Given the description of an element on the screen output the (x, y) to click on. 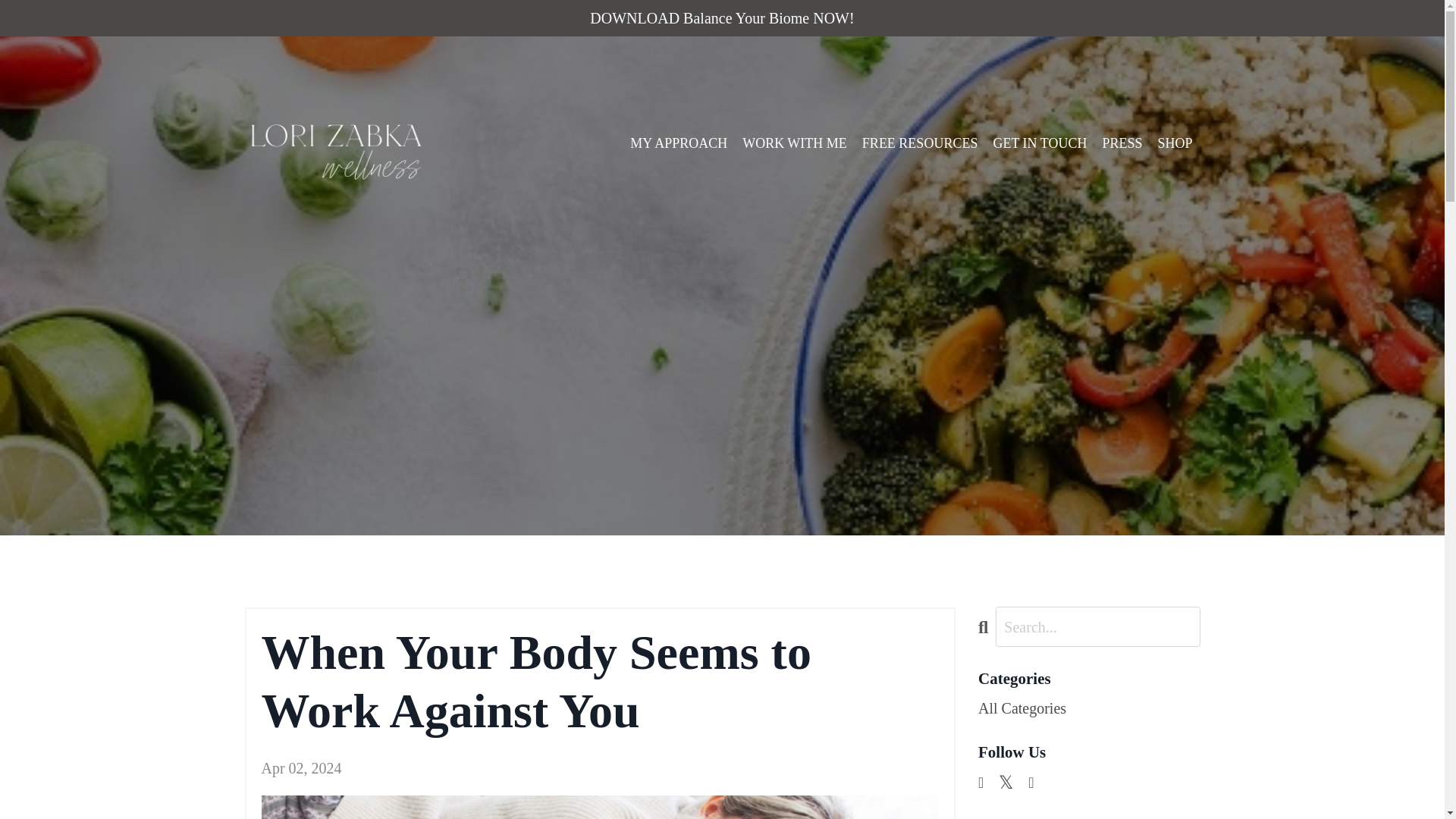
PRESS (1121, 143)
GET IN TOUCH (1039, 143)
FREE RESOURCES (919, 143)
SHOP (1174, 143)
WORK WITH ME (794, 143)
MY APPROACH (678, 143)
All Categories (1088, 708)
